Given the description of an element on the screen output the (x, y) to click on. 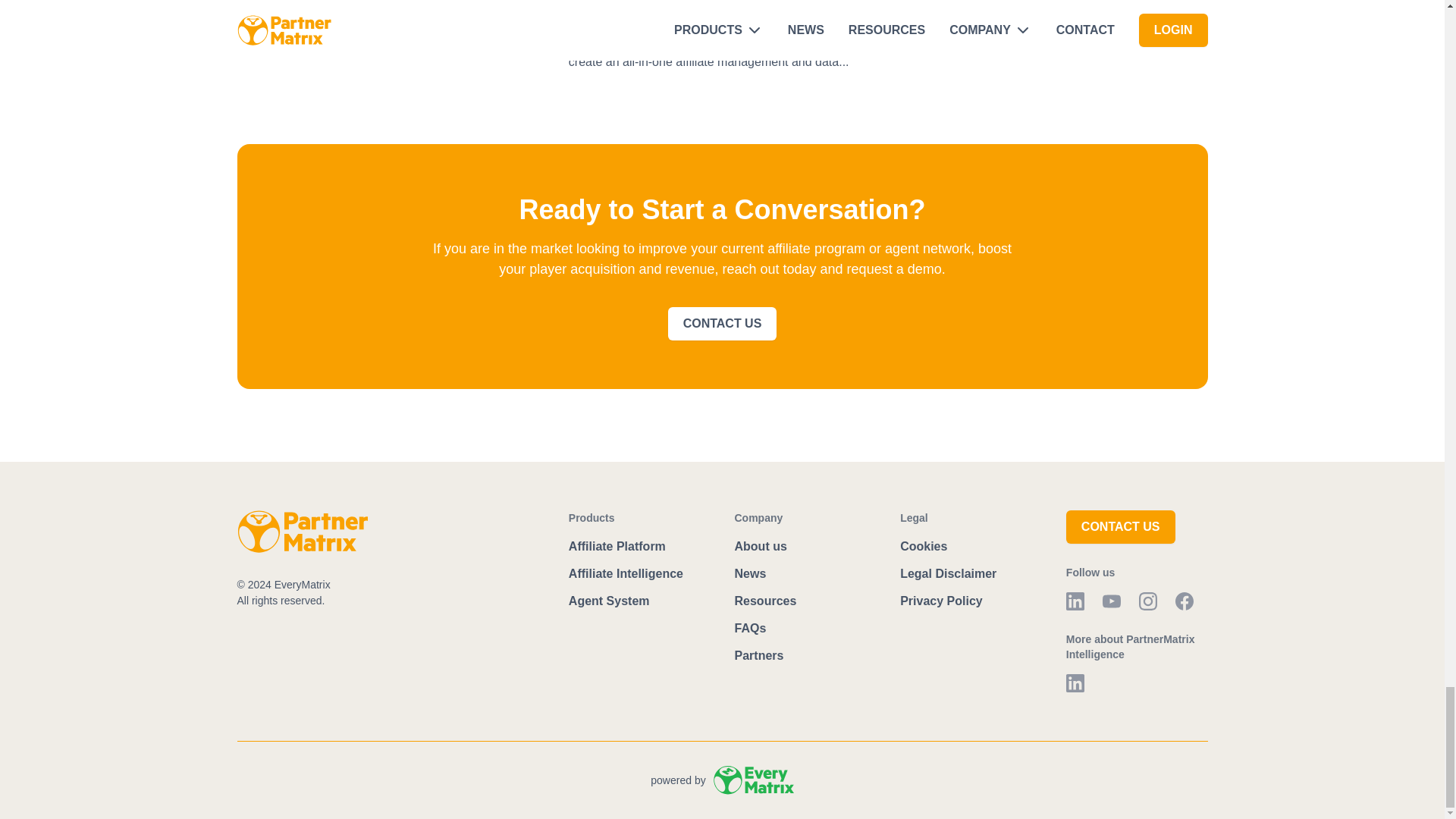
Agent System  (610, 601)
Affiliate Intelligence (625, 574)
Affiliate Platform  (618, 546)
CONTACT US (722, 323)
